Given the description of an element on the screen output the (x, y) to click on. 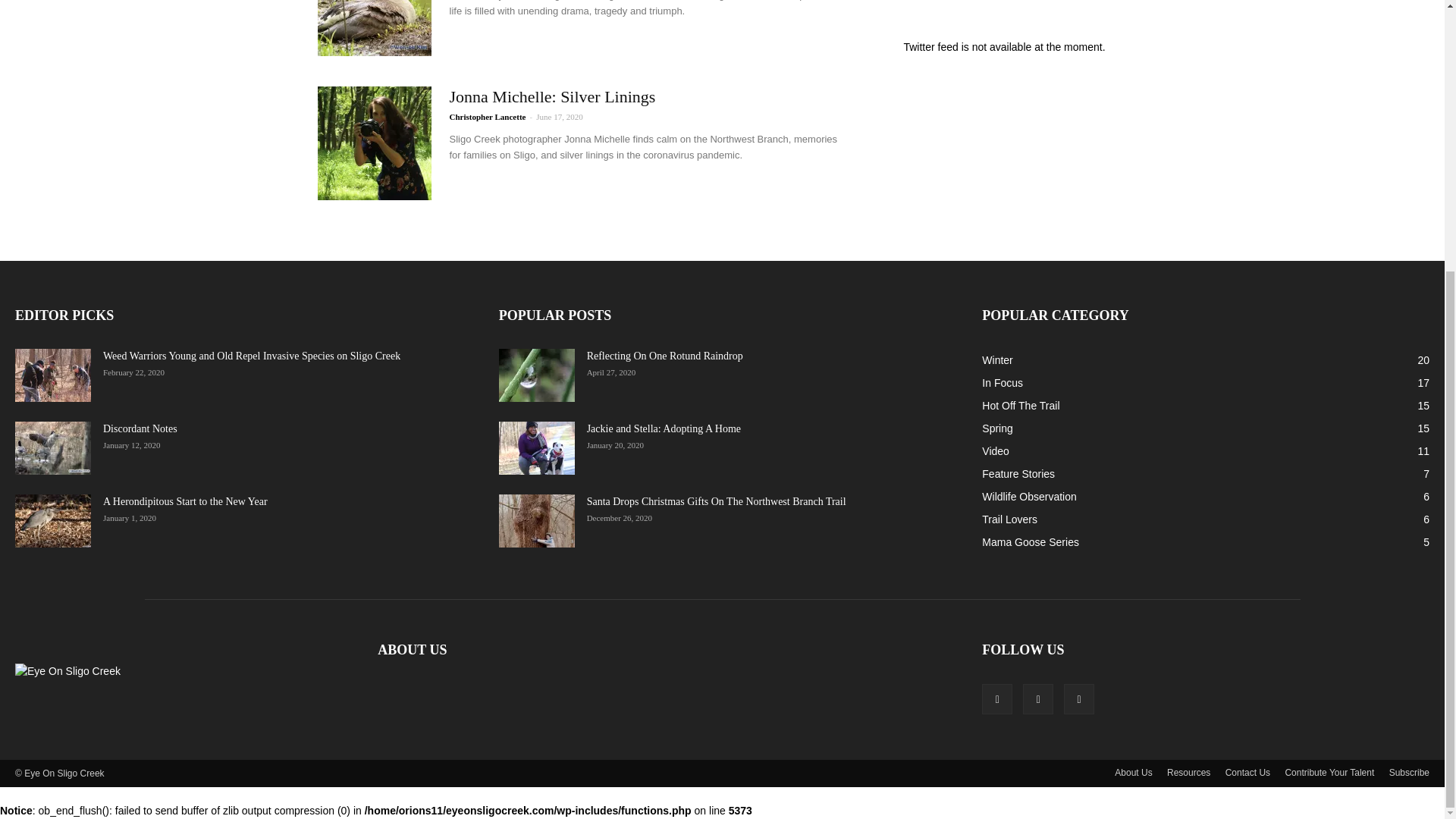
Hope and Hardship for Canada Geese on Sligo Creek (373, 28)
